Given the description of an element on the screen output the (x, y) to click on. 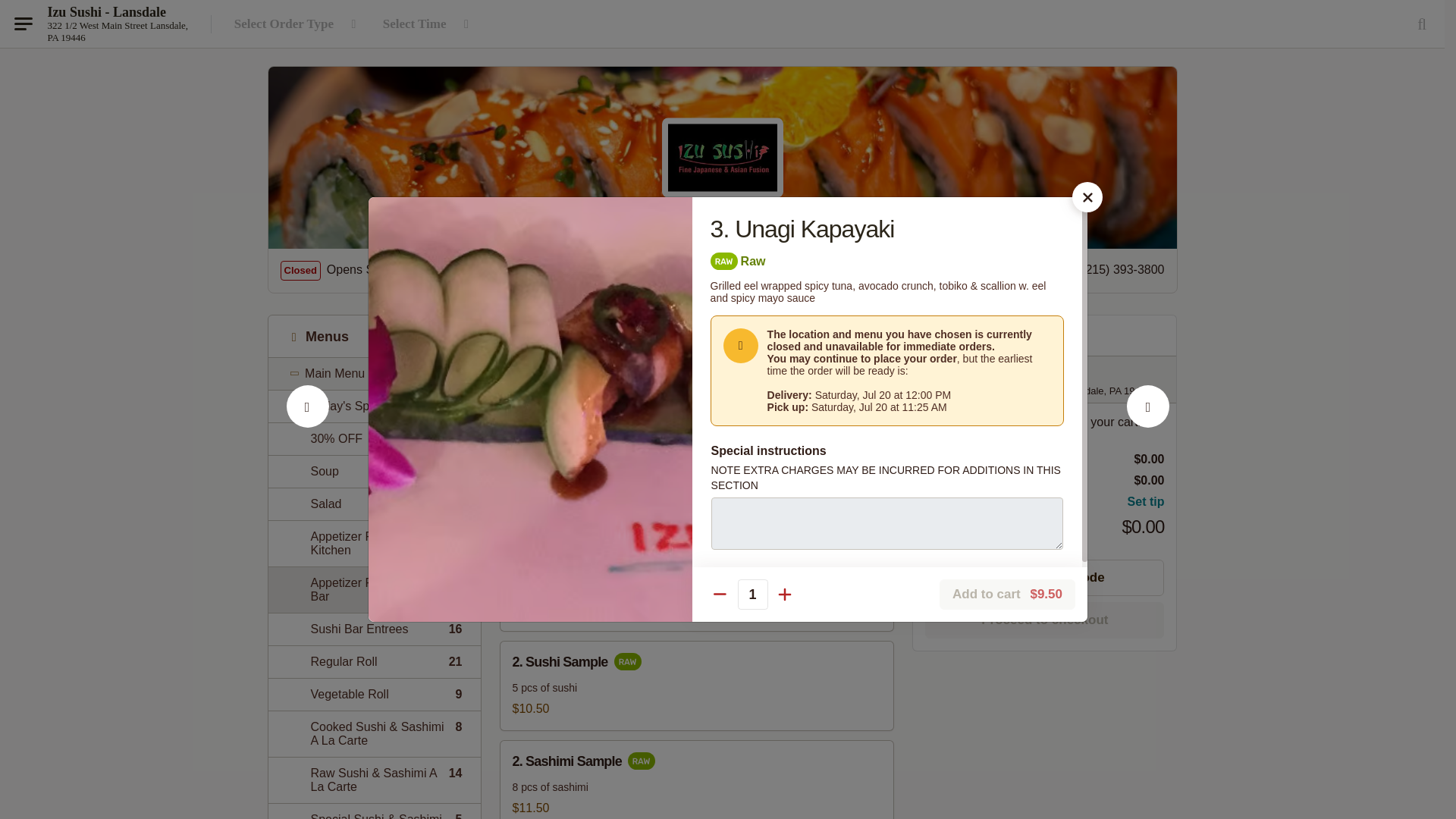
View Hours (373, 405)
Select Time (373, 661)
13. Fatty Tuna Tartare (520, 270)
1 (373, 628)
Add tip (373, 503)
Proceed to checkout (373, 471)
Select Order Type (428, 23)
Izu Sushi - Lansdale (1147, 422)
